Given the description of an element on the screen output the (x, y) to click on. 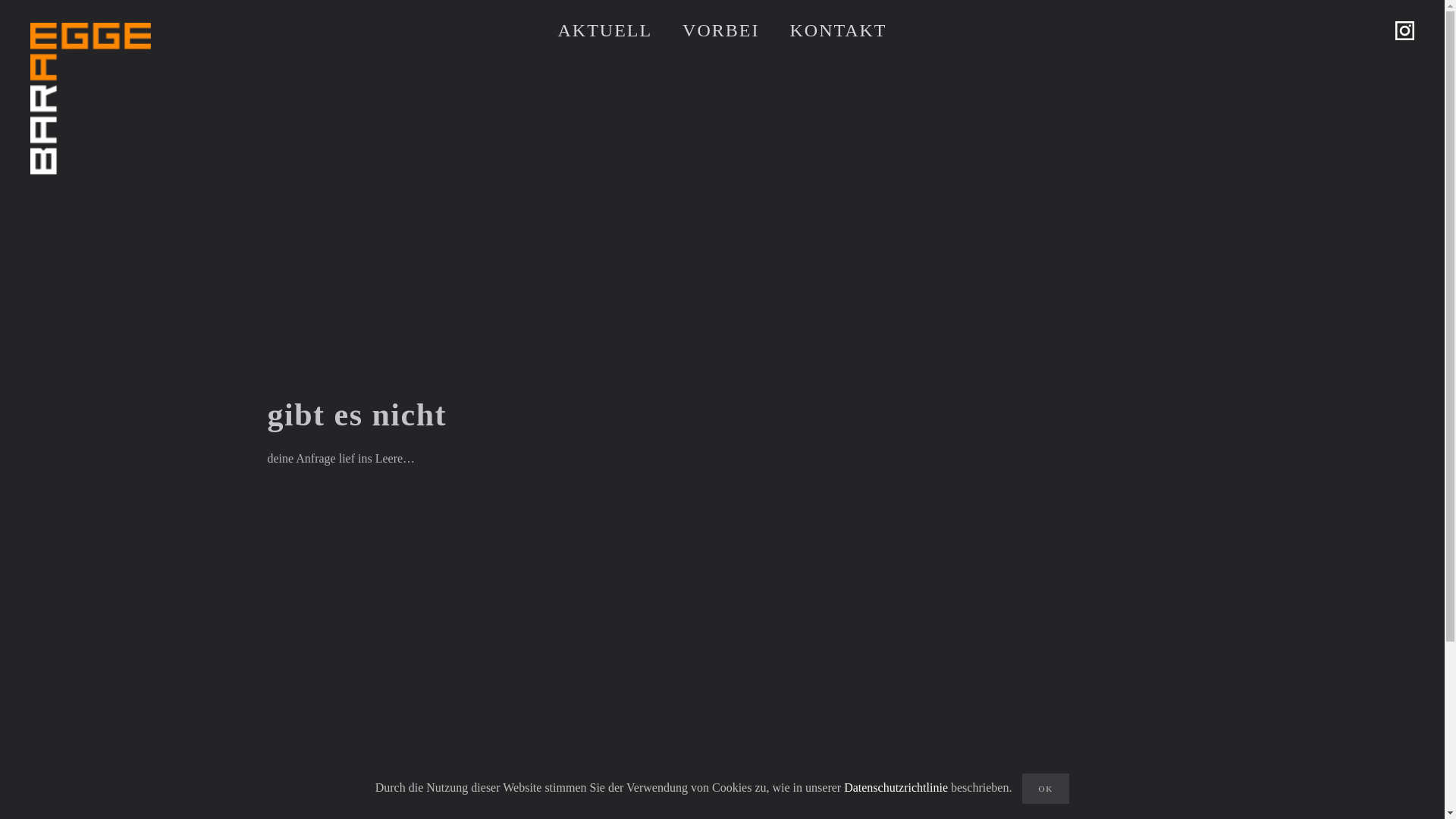
Datenschutzrichtlinie Element type: text (895, 787)
AKTUELL Element type: text (604, 30)
OK Element type: text (1045, 788)
KONTAKT Element type: text (837, 30)
VORBEI Element type: text (720, 30)
